Given the description of an element on the screen output the (x, y) to click on. 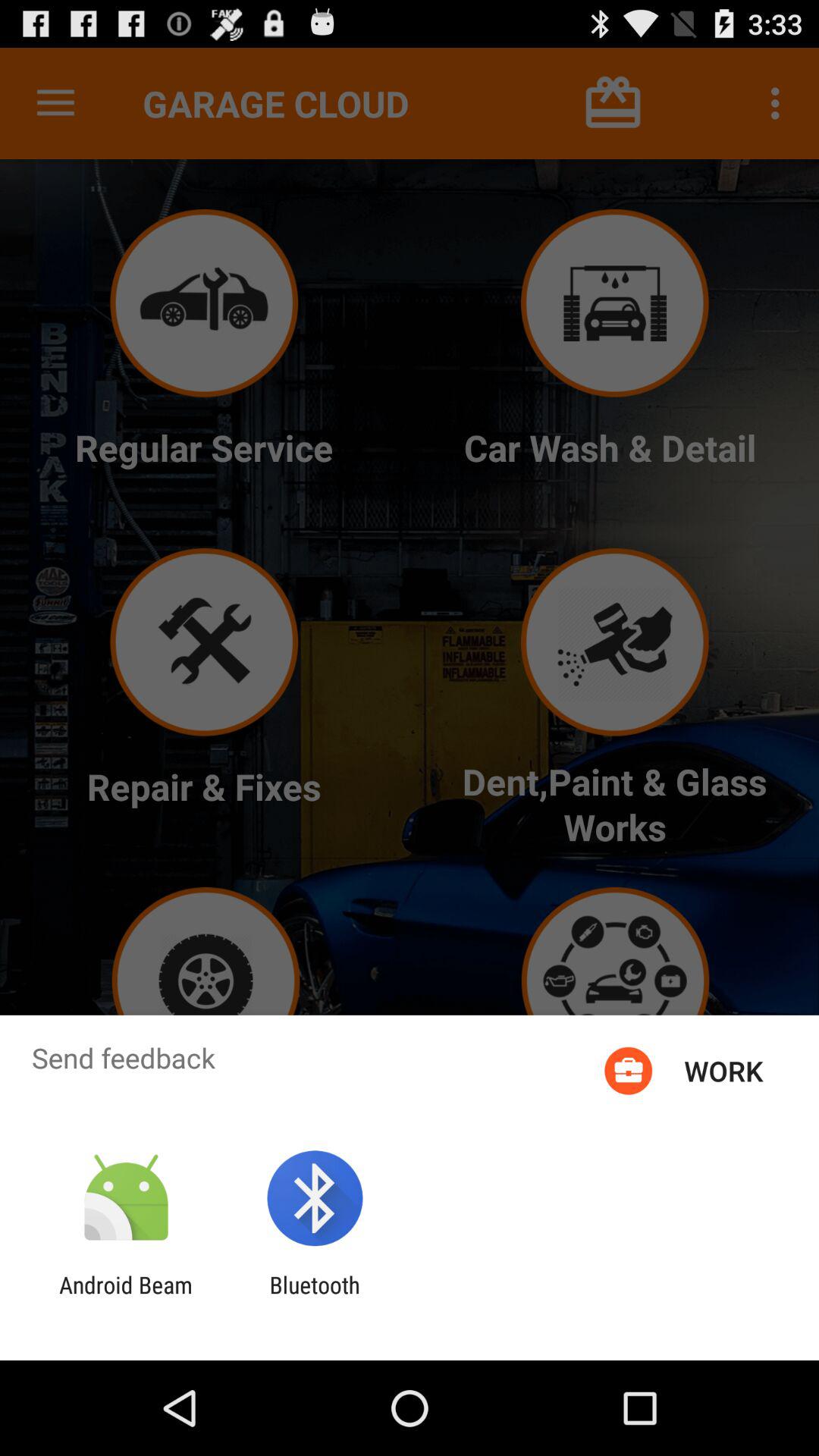
choose the icon to the right of the android beam (314, 1298)
